Given the description of an element on the screen output the (x, y) to click on. 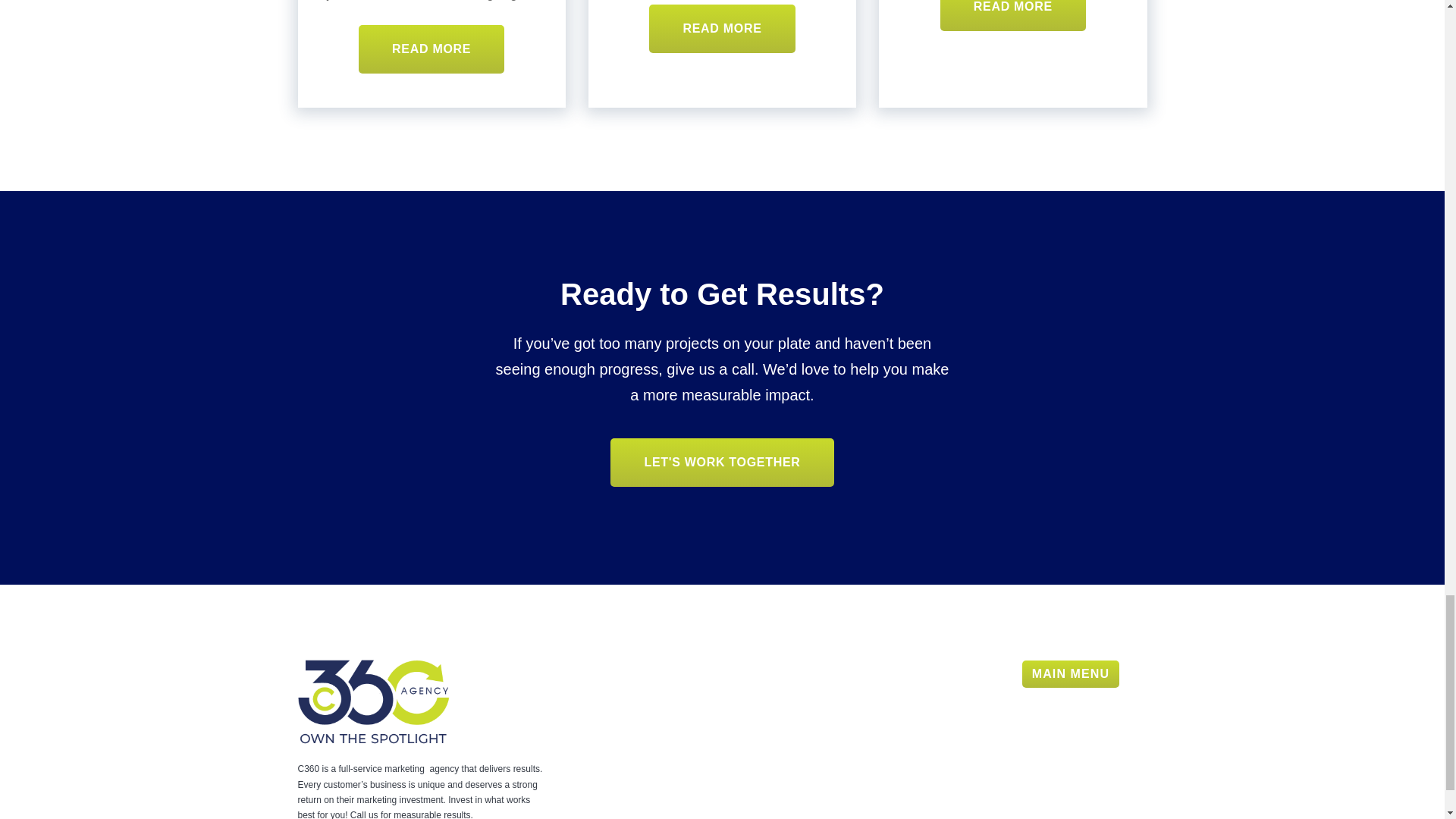
READ MORE (430, 49)
MAIN MENU (1070, 673)
READ MORE (1013, 15)
READ MORE (721, 28)
LET'S WORK TOGETHER (721, 462)
